Given the description of an element on the screen output the (x, y) to click on. 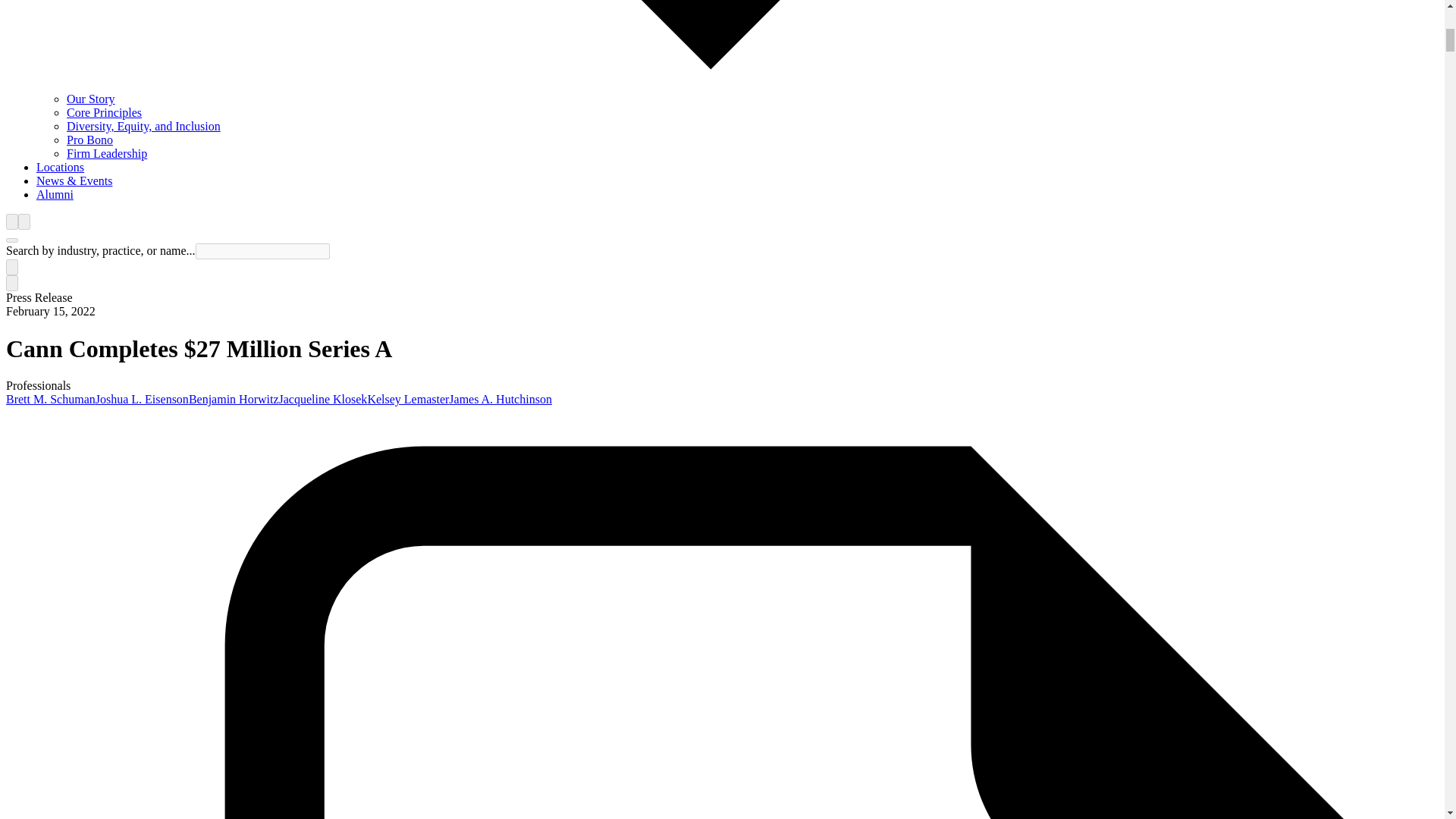
Locations (60, 166)
Benjamin Horwitz (234, 399)
Jacqueline Klosek (323, 399)
Core Principles (103, 112)
Alumni (55, 194)
Firm Leadership (106, 153)
Joshua L. Eisenson (142, 399)
Pro Bono (89, 139)
Our Story (90, 98)
Kelsey Lemaster (407, 399)
